Given the description of an element on the screen output the (x, y) to click on. 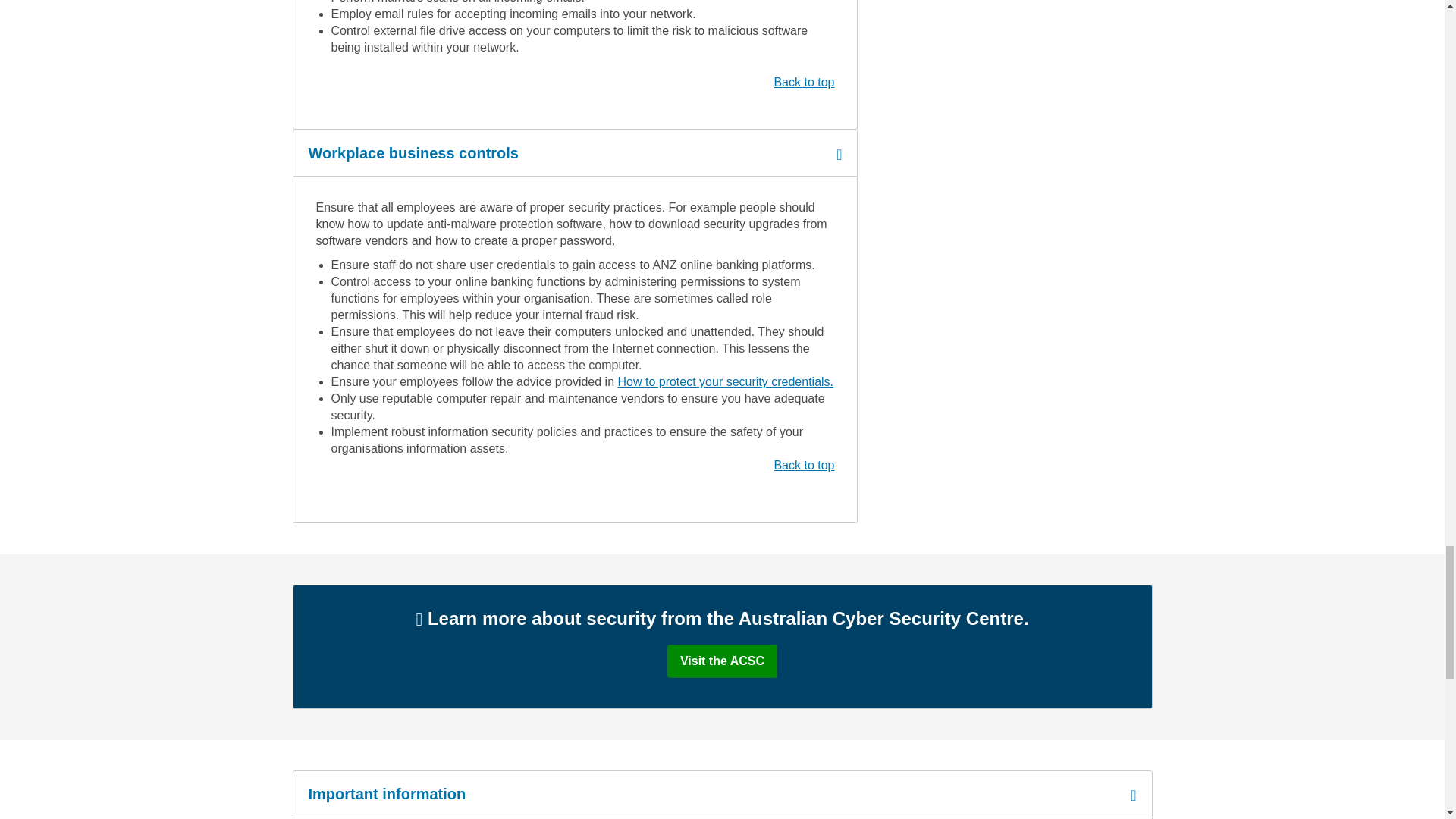
How to protect your security credentials. (724, 381)
